Given the description of an element on the screen output the (x, y) to click on. 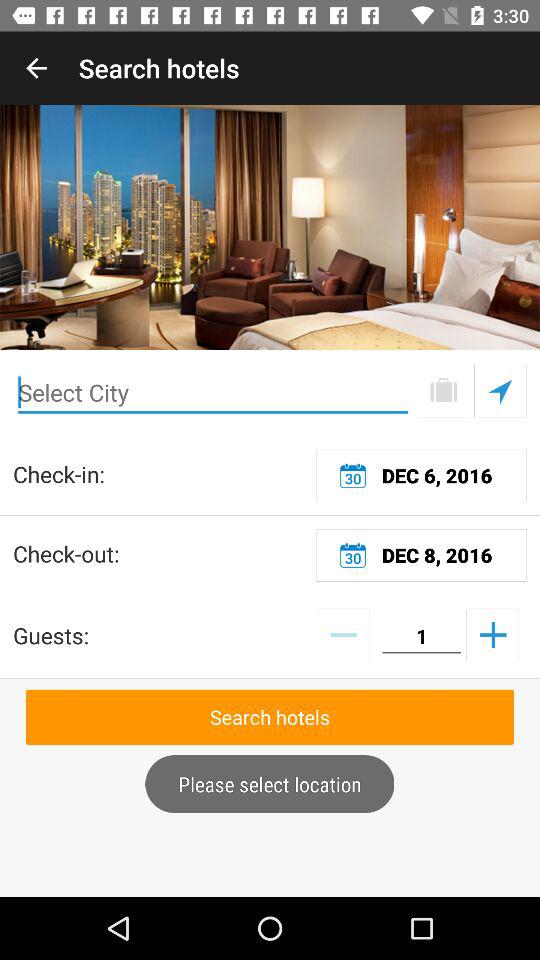
location option (500, 390)
